Given the description of an element on the screen output the (x, y) to click on. 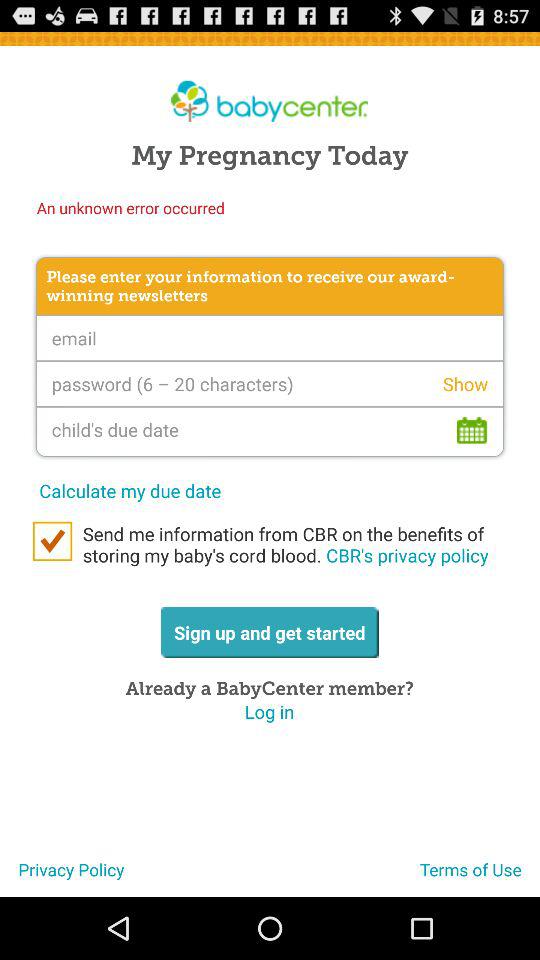
childs due date (270, 431)
